Given the description of an element on the screen output the (x, y) to click on. 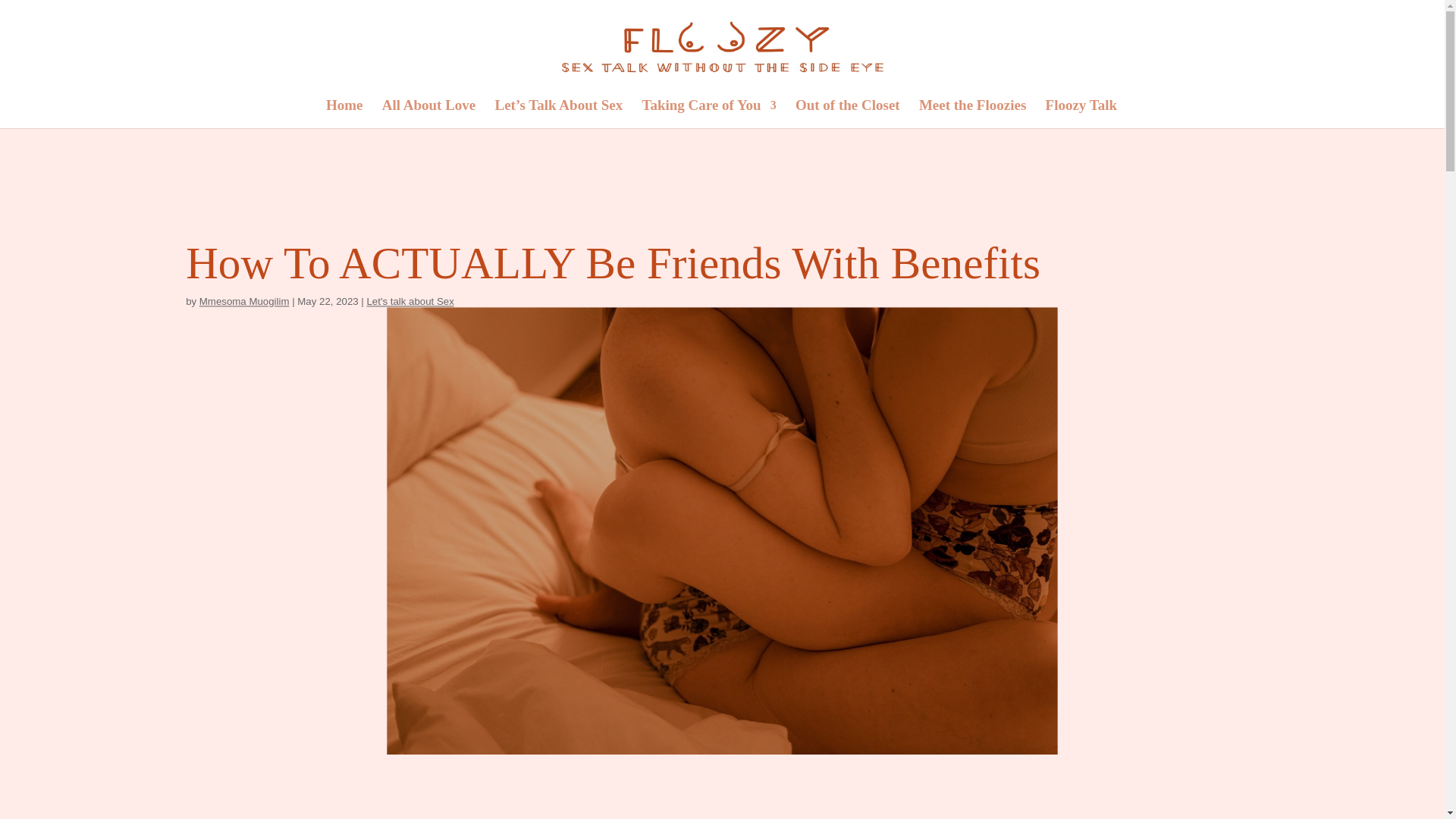
Taking Care of You (709, 113)
Home (344, 113)
Let's talk about Sex (409, 301)
Mmesoma Muogilim (242, 301)
Meet the Floozies (972, 113)
Posts by Mmesoma Muogilim (242, 301)
All About Love (428, 113)
Floozy Talk (1081, 113)
Out of the Closet (846, 113)
